Given the description of an element on the screen output the (x, y) to click on. 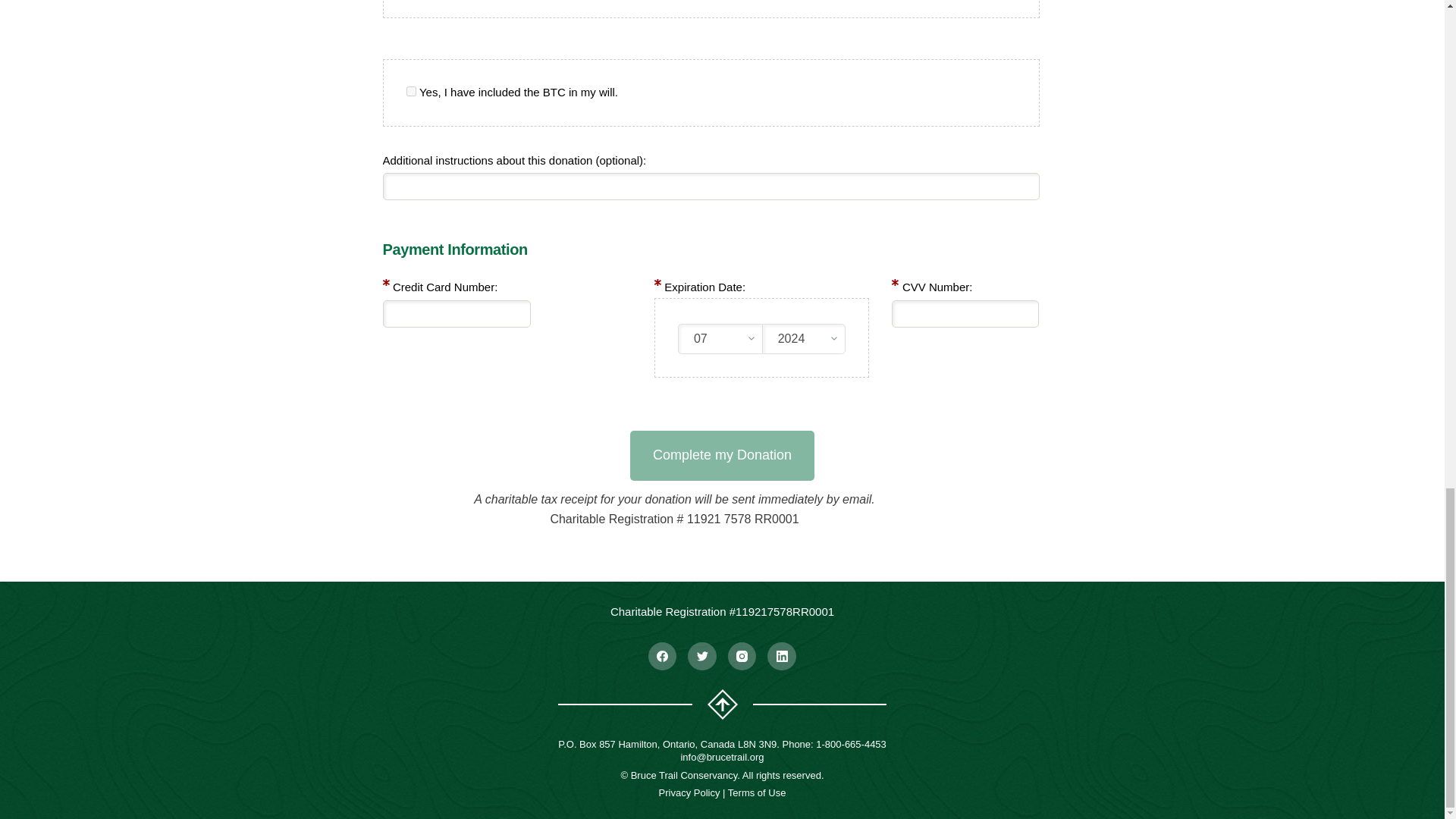
Terms of Use (757, 792)
true (411, 91)
Complete my Donation (721, 455)
Privacy Policy (689, 792)
